Given the description of an element on the screen output the (x, y) to click on. 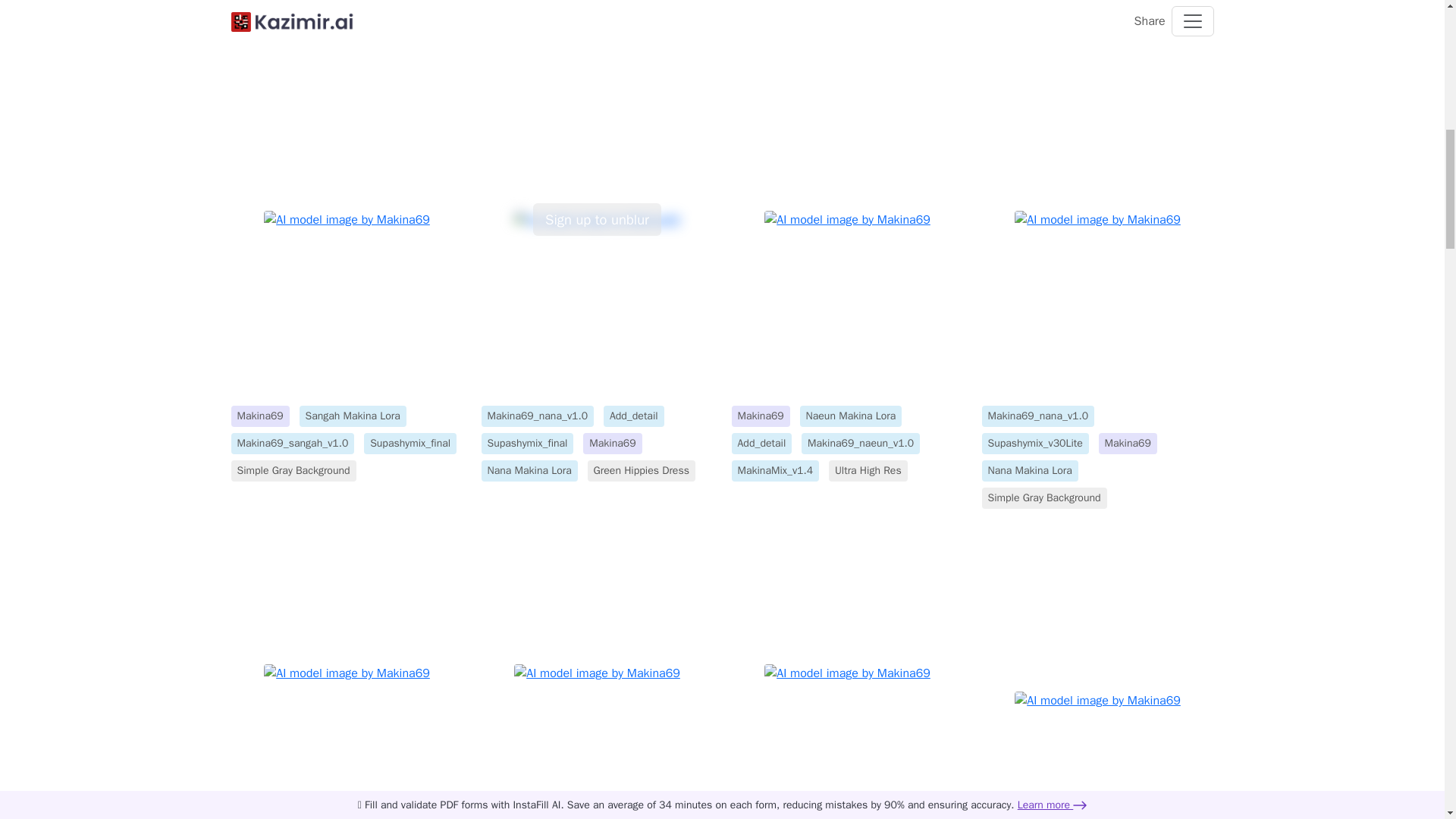
Makina69 (259, 415)
Sangah Makina Lora (352, 415)
Simple Gray Background (292, 470)
